Given the description of an element on the screen output the (x, y) to click on. 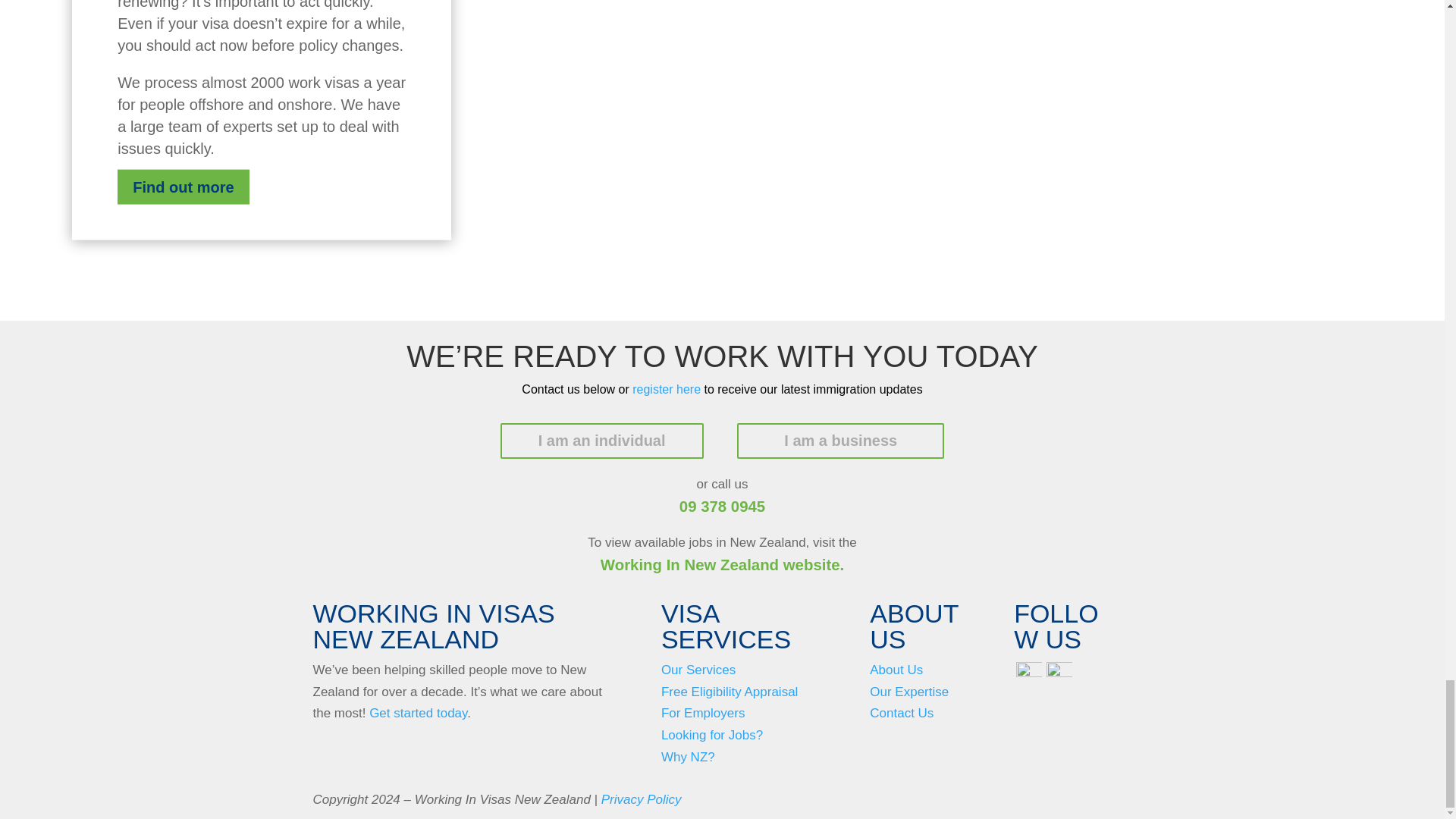
09 378 0945 (722, 506)
I am a business (840, 441)
I am an individual (601, 440)
Find out more (182, 186)
register here (665, 389)
I am a business (839, 440)
Working In New Zealand website. (721, 564)
Get started today (418, 712)
